Given the description of an element on the screen output the (x, y) to click on. 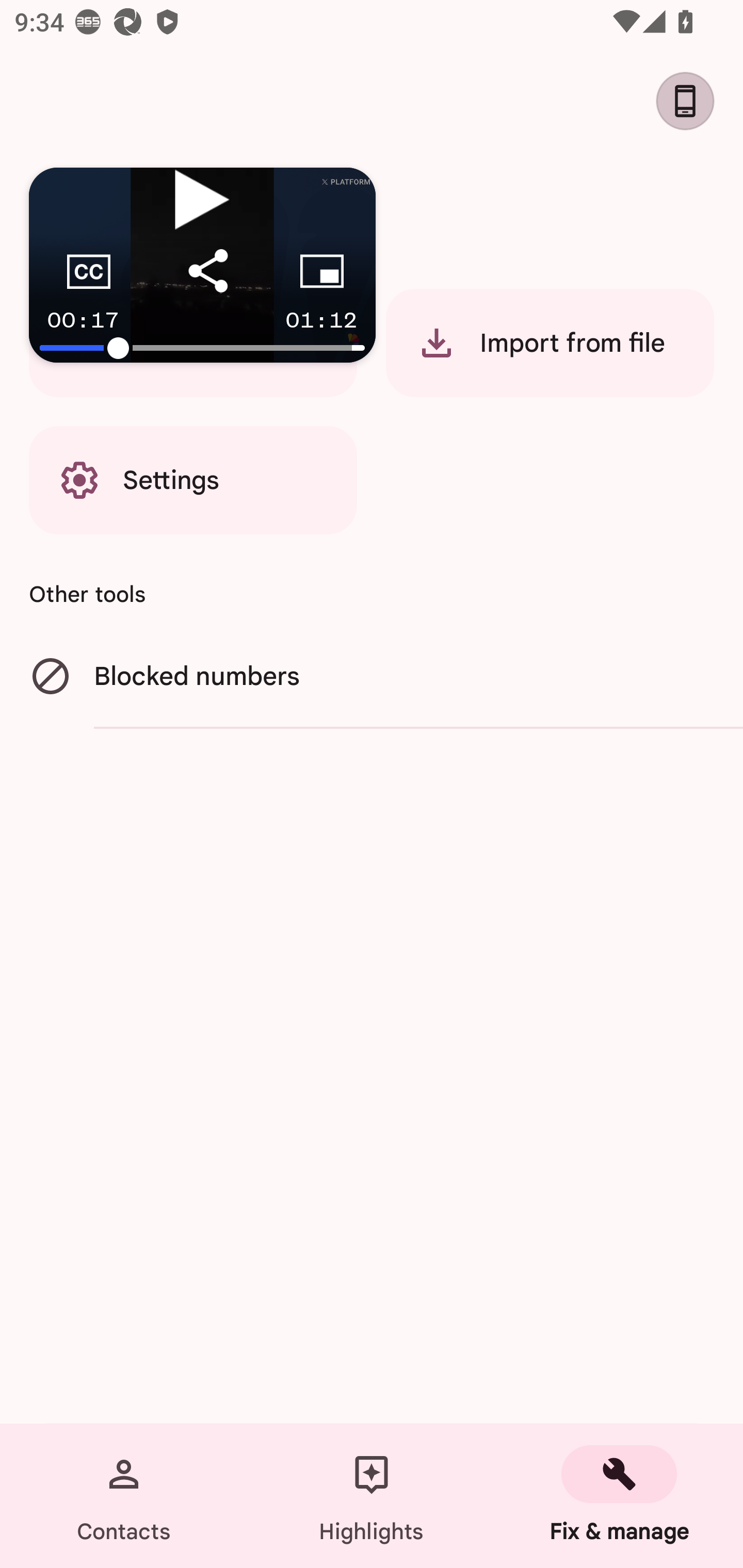
Signed in as Device
Account and settings. (692, 101)
Import from file (549, 342)
Settings (192, 480)
Blocked numbers (371, 677)
Contacts (123, 1495)
Highlights (371, 1495)
